Given the description of an element on the screen output the (x, y) to click on. 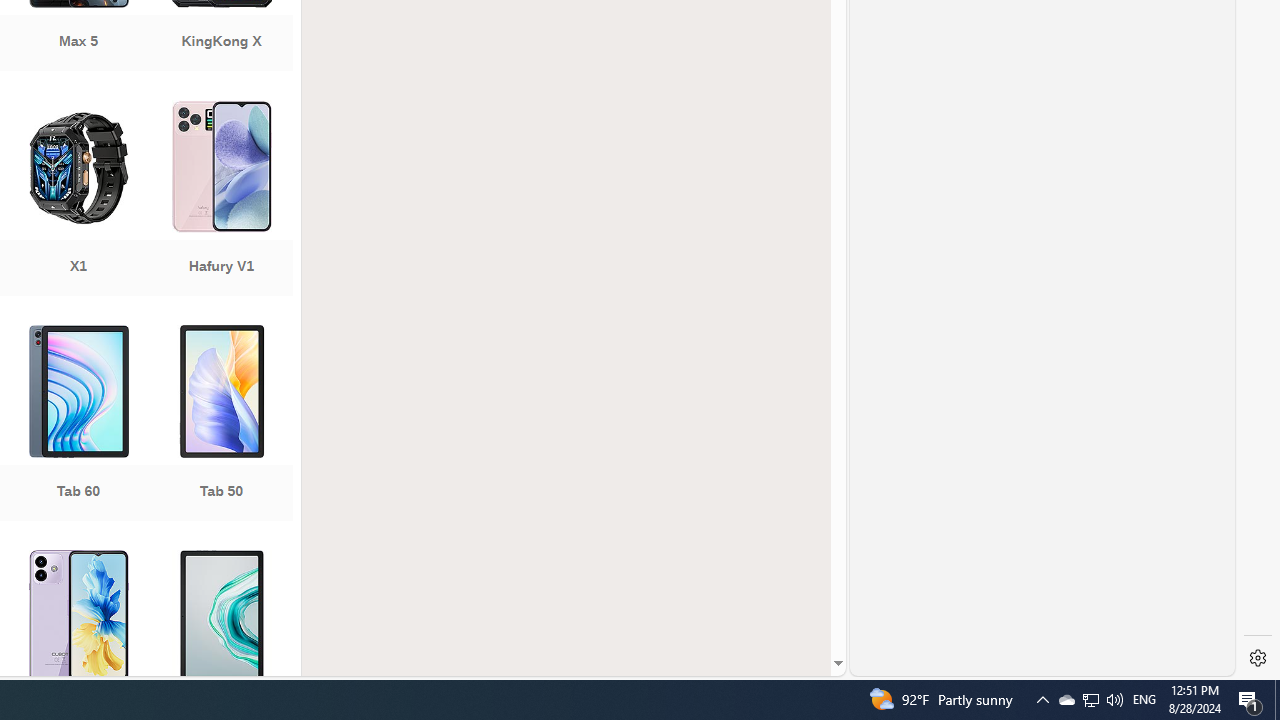
Tab 60 (77, 425)
Tab 50 (221, 425)
Hafury V1 (221, 200)
X1 (77, 200)
